Given the description of an element on the screen output the (x, y) to click on. 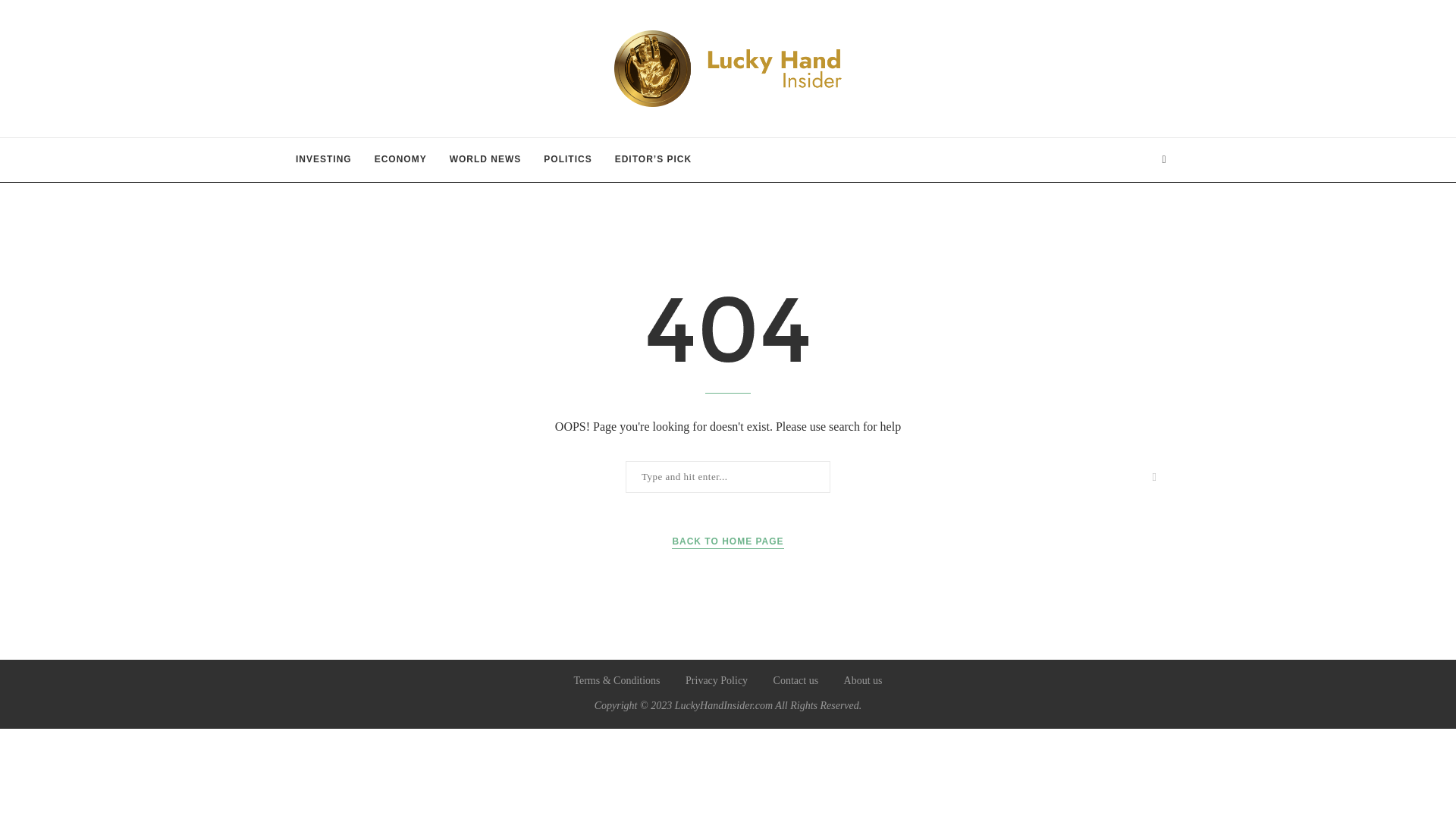
INVESTING (322, 159)
About us (863, 680)
ECONOMY (400, 159)
Contact us (795, 680)
BACK TO HOME PAGE (727, 541)
POLITICS (567, 159)
Privacy Policy (716, 680)
WORLD NEWS (485, 159)
